Given the description of an element on the screen output the (x, y) to click on. 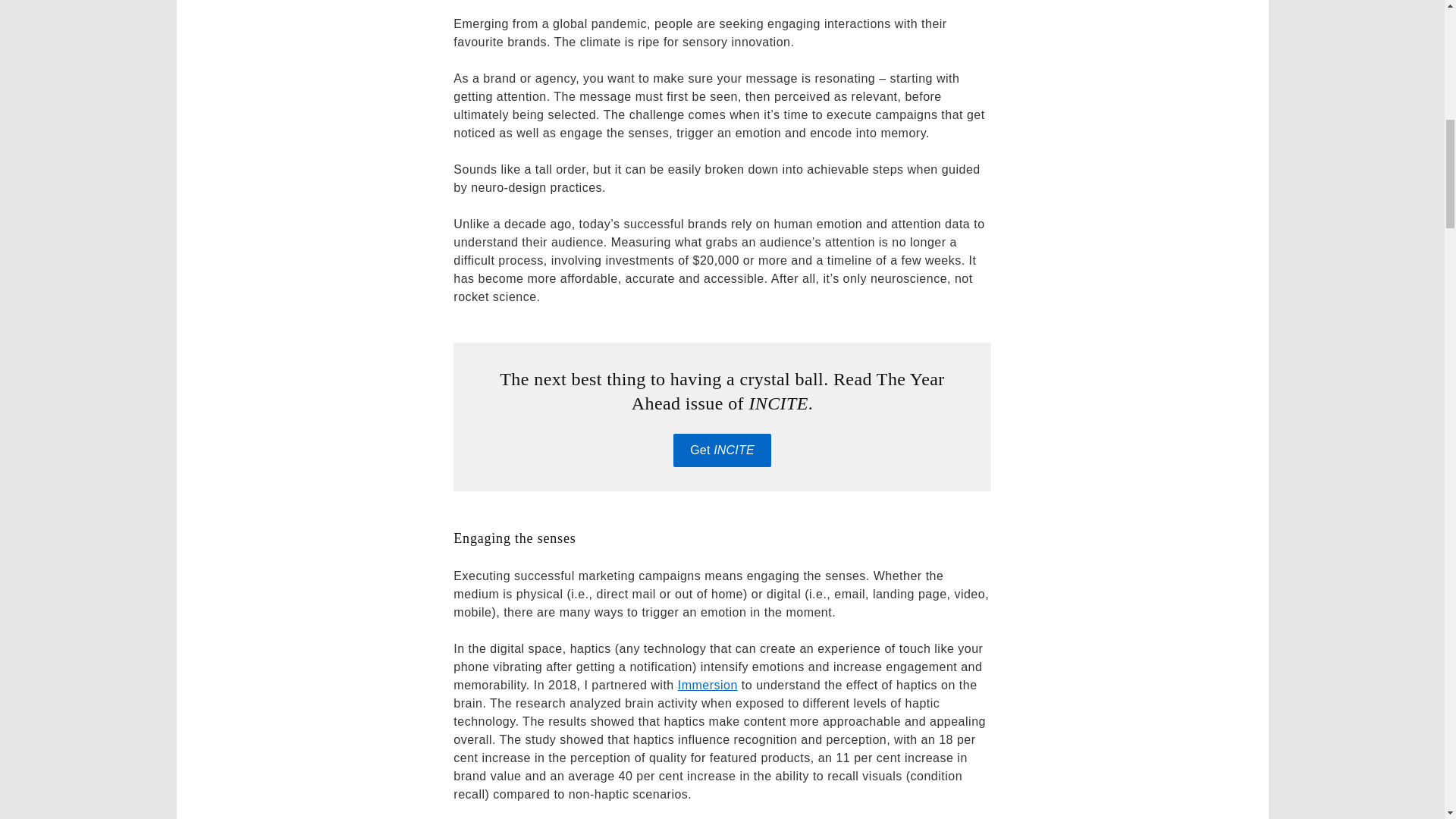
Get INCITE (721, 450)
Link opens in a new window (708, 684)
Immersion (708, 684)
